Given the description of an element on the screen output the (x, y) to click on. 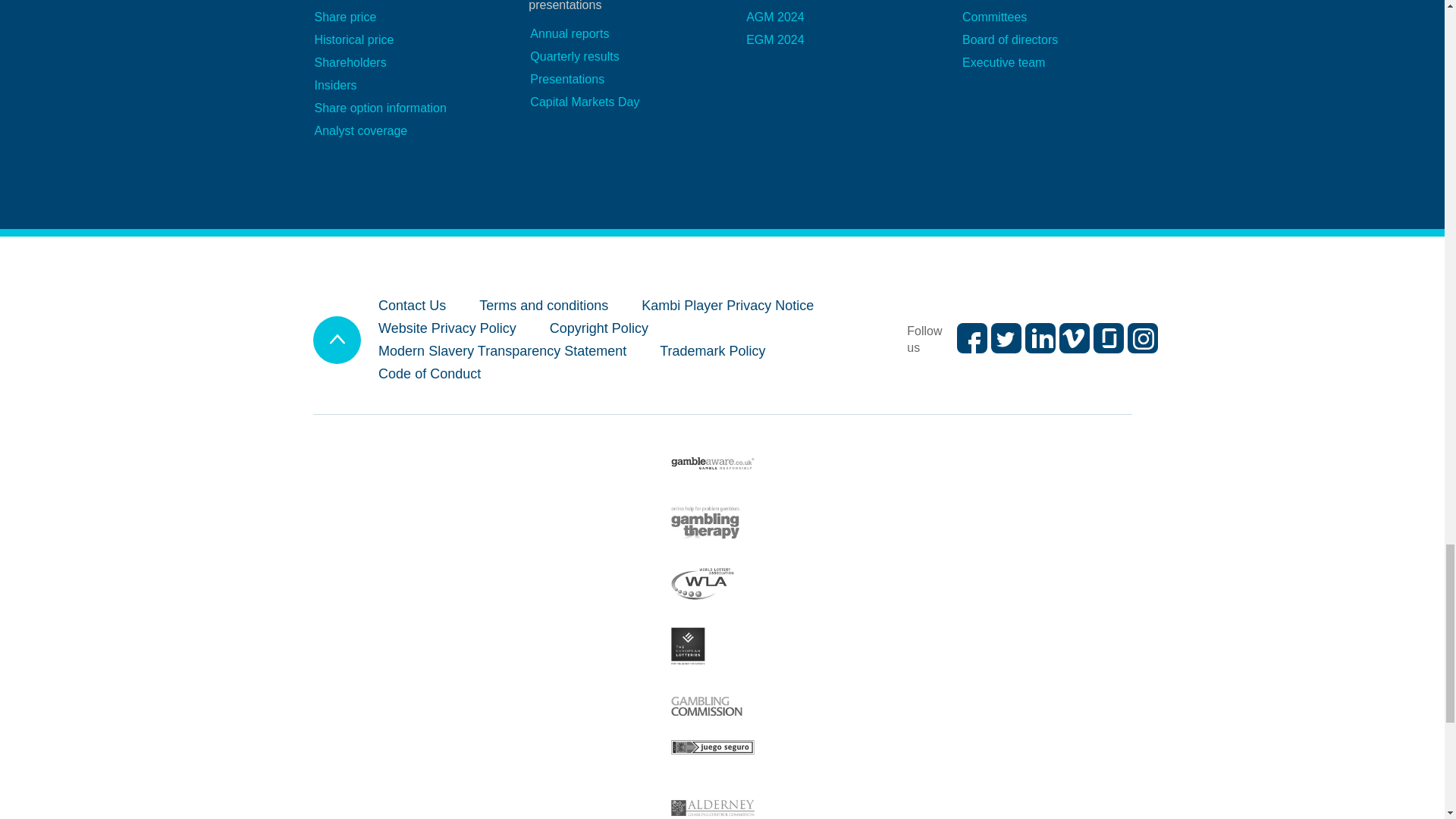
Kambi Vimeo (1074, 337)
gamble-aware-logo (712, 462)
gambling-therapy-logo (705, 524)
Kambi Twitter (1006, 337)
european-lotteries-logo (687, 646)
Kambi Linkedin (1040, 337)
Kambi Facebook (971, 337)
Kambi Instagram (1141, 337)
wla-logo (702, 585)
gambling-commission-logo (706, 707)
Kambi Glassdoor (1108, 337)
